Given the description of an element on the screen output the (x, y) to click on. 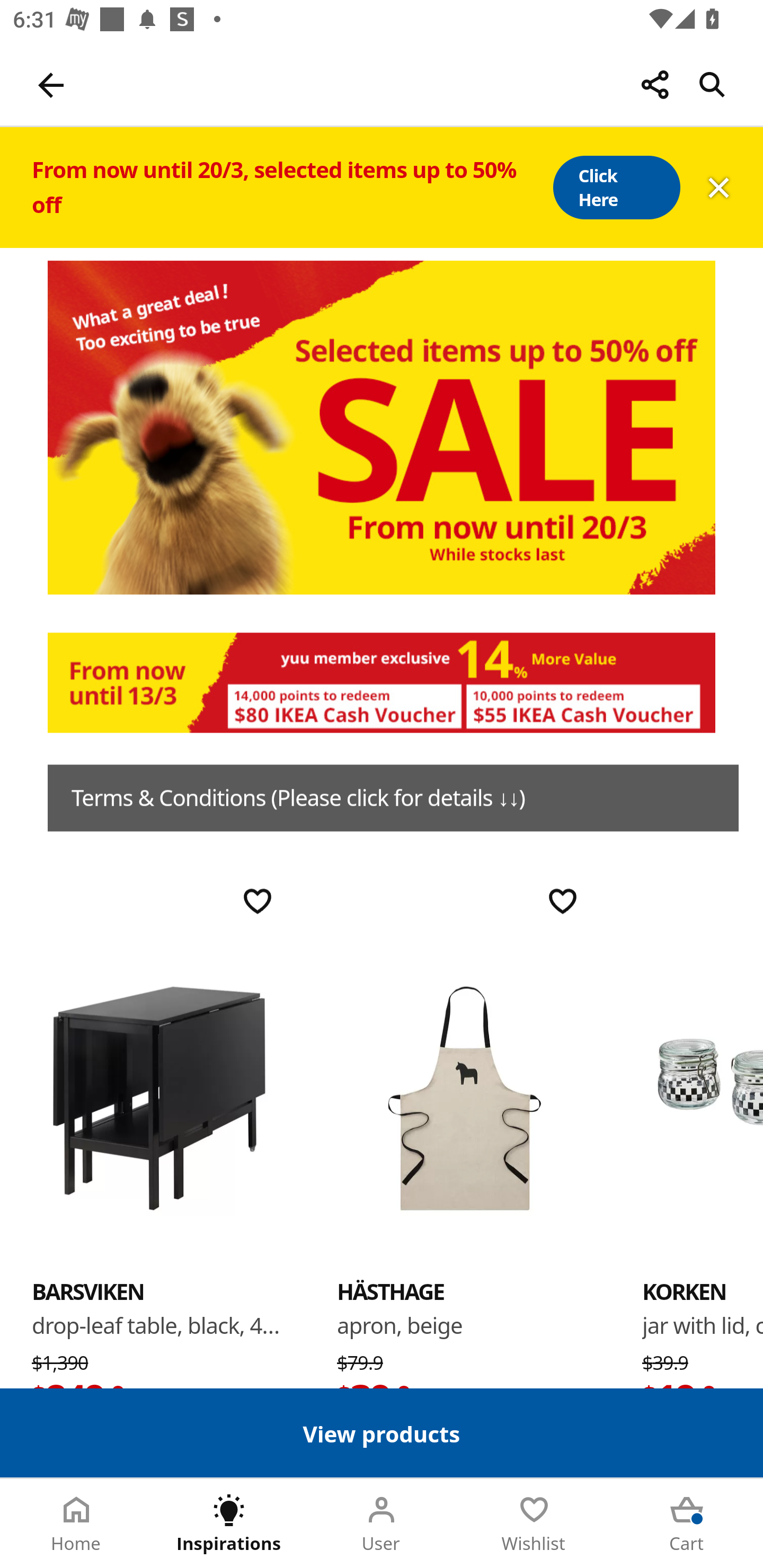
Click Here (615, 187)
Terms & Conditions (Please click for details ↓↓) (393, 798)
BARSVIKEN (159, 1096)
HÄSTHAGE (464, 1096)
KORKEN (702, 1096)
BARSVIKEN (88, 1290)
HÄSTHAGE (390, 1290)
KORKEN (684, 1290)
View products (381, 1432)
Home
Tab 1 of 5 (76, 1522)
Inspirations
Tab 2 of 5 (228, 1522)
User
Tab 3 of 5 (381, 1522)
Wishlist
Tab 4 of 5 (533, 1522)
Cart
Tab 5 of 5 (686, 1522)
